Given the description of an element on the screen output the (x, y) to click on. 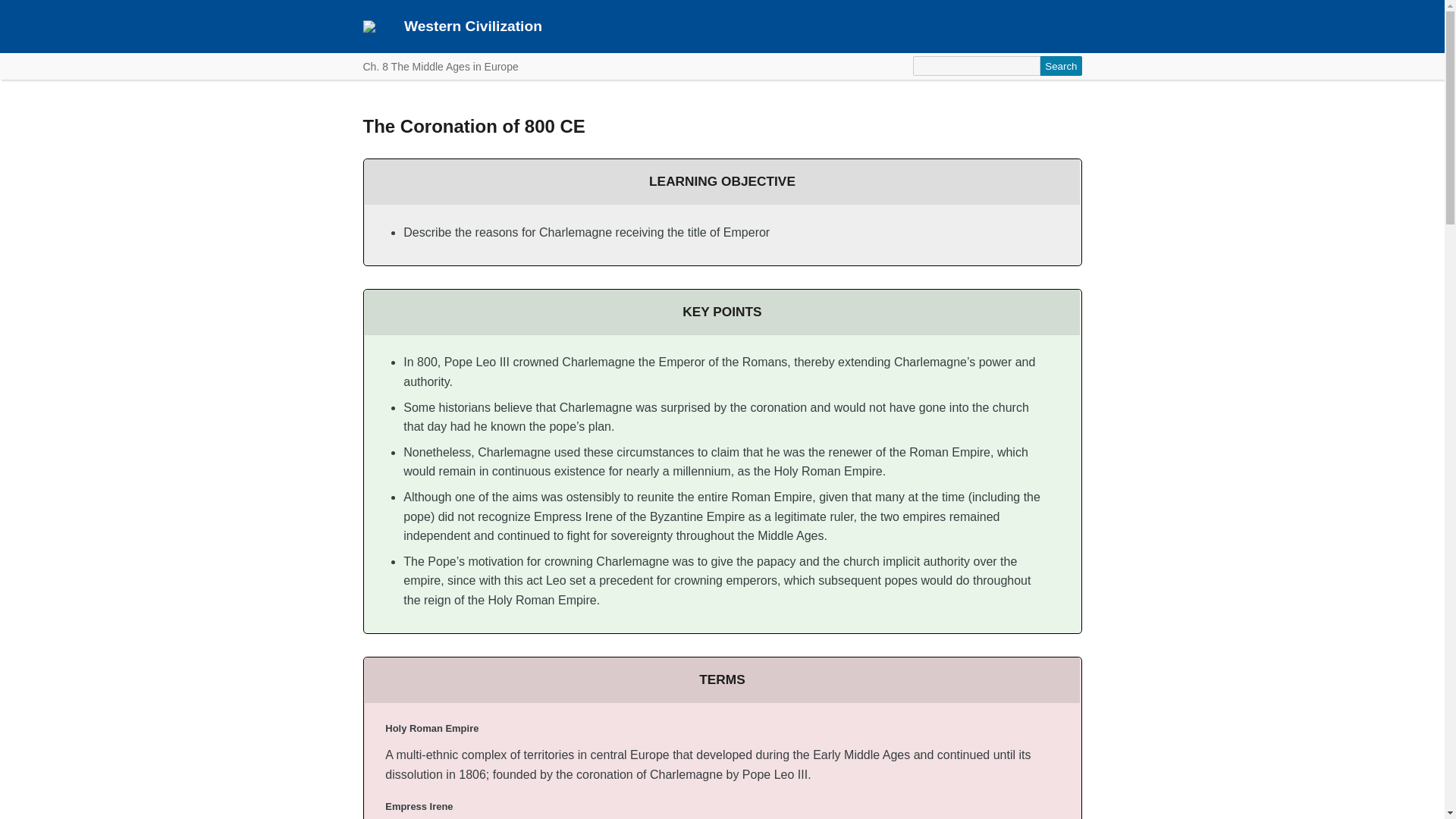
Western Civilization (472, 26)
Search (1061, 66)
Search (1061, 66)
Western Civilization (472, 26)
